Given the description of an element on the screen output the (x, y) to click on. 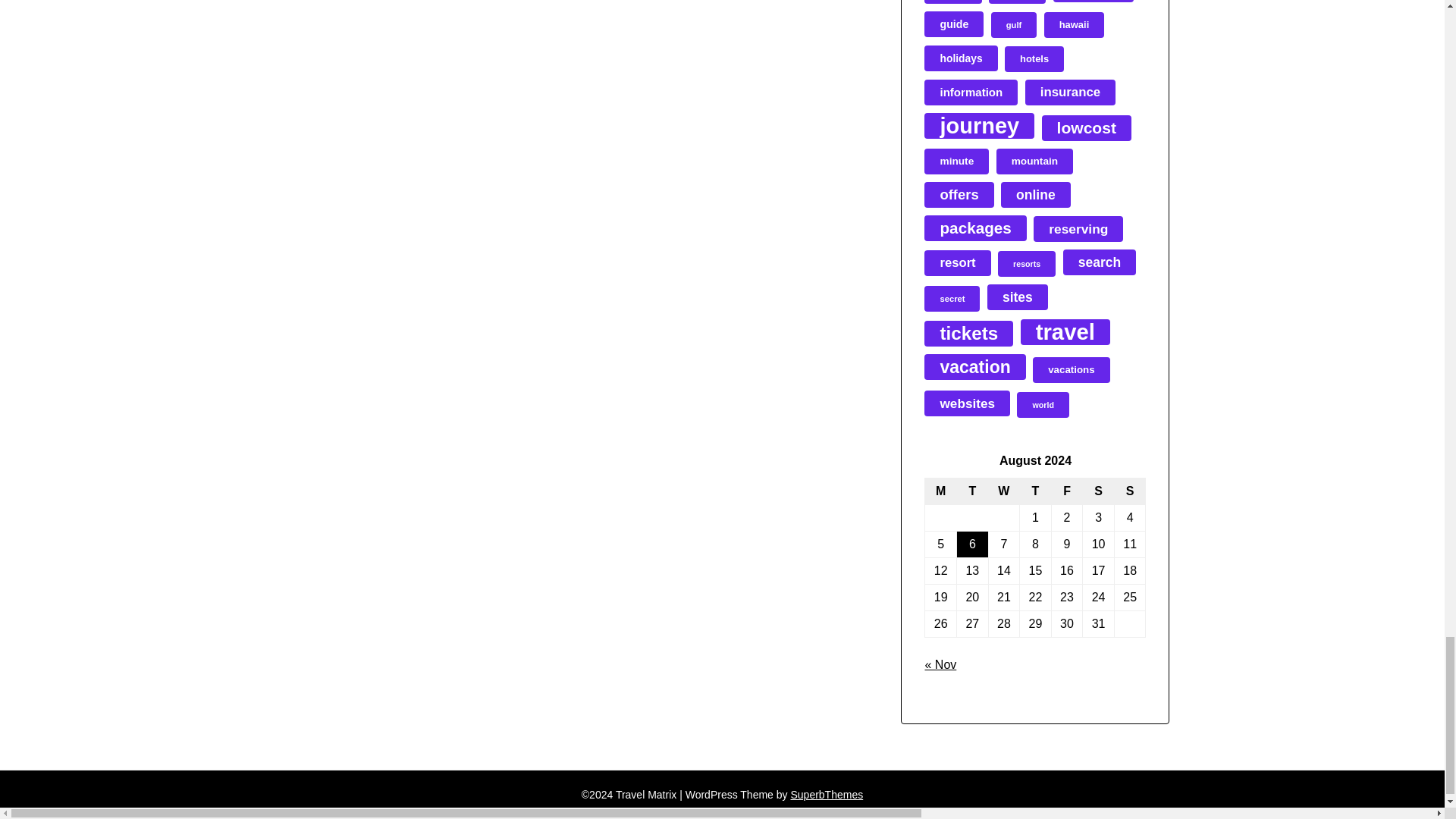
Sunday (1129, 490)
Saturday (1099, 490)
Friday (1067, 490)
Thursday (1035, 490)
Monday (940, 490)
Tuesday (972, 490)
Wednesday (1004, 490)
